Given the description of an element on the screen output the (x, y) to click on. 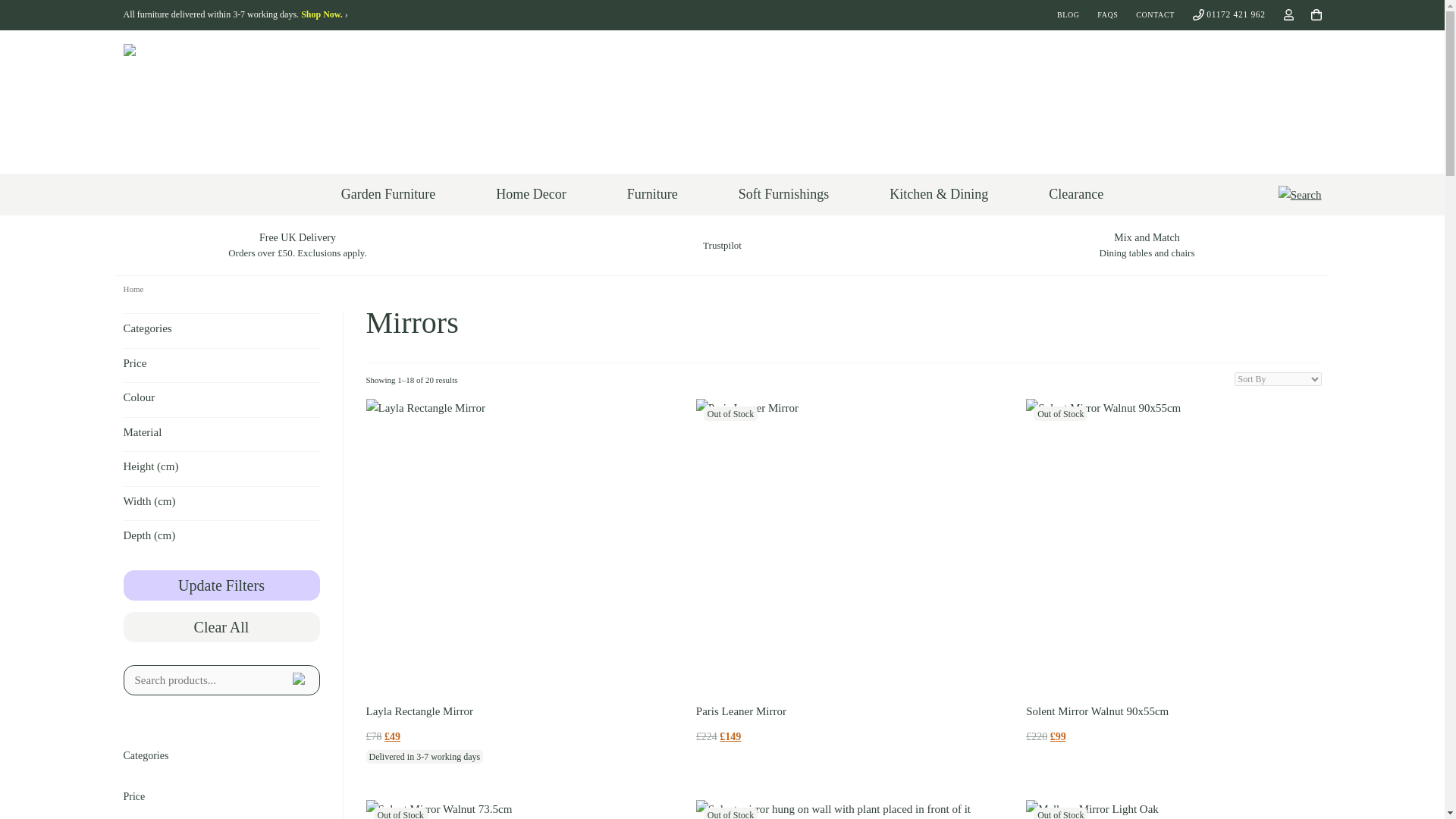
All furniture delivered within 3-7 working days. (234, 14)
Mix and Match (1146, 245)
Garden Furniture (388, 193)
01172 421 962 (1228, 15)
CONTACT (1154, 15)
Free UK Delivery (296, 245)
Search (1300, 194)
